Given the description of an element on the screen output the (x, y) to click on. 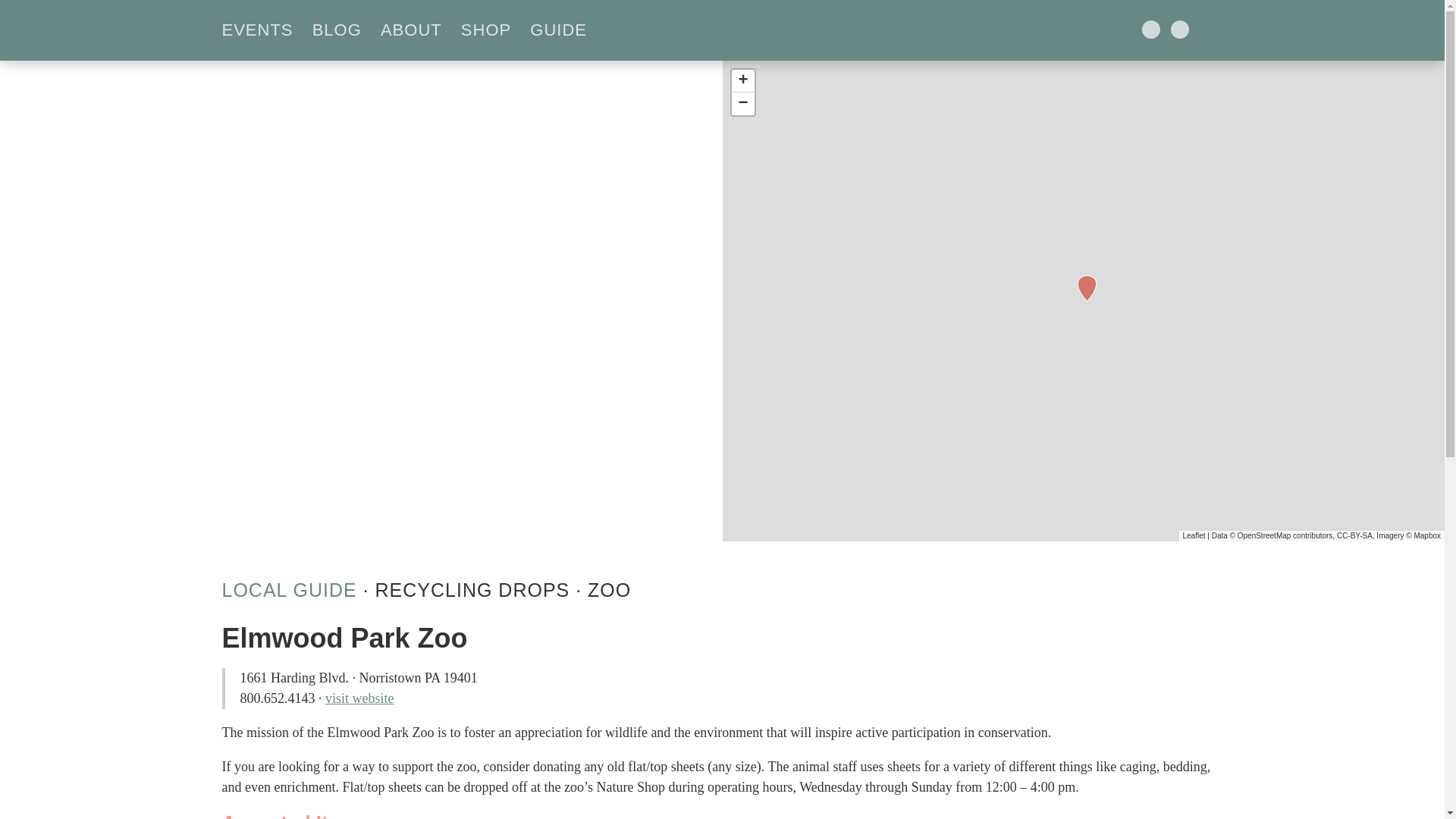
Zoom out (742, 103)
SHOP (491, 29)
Zoom in (742, 80)
EVENTS (262, 29)
A JS library for interactive maps (1193, 535)
CC-BY-SA (1354, 535)
Leaflet (1193, 535)
GUIDE (563, 29)
LOCAL GUIDE (288, 589)
OpenStreetMap (1264, 535)
